Given the description of an element on the screen output the (x, y) to click on. 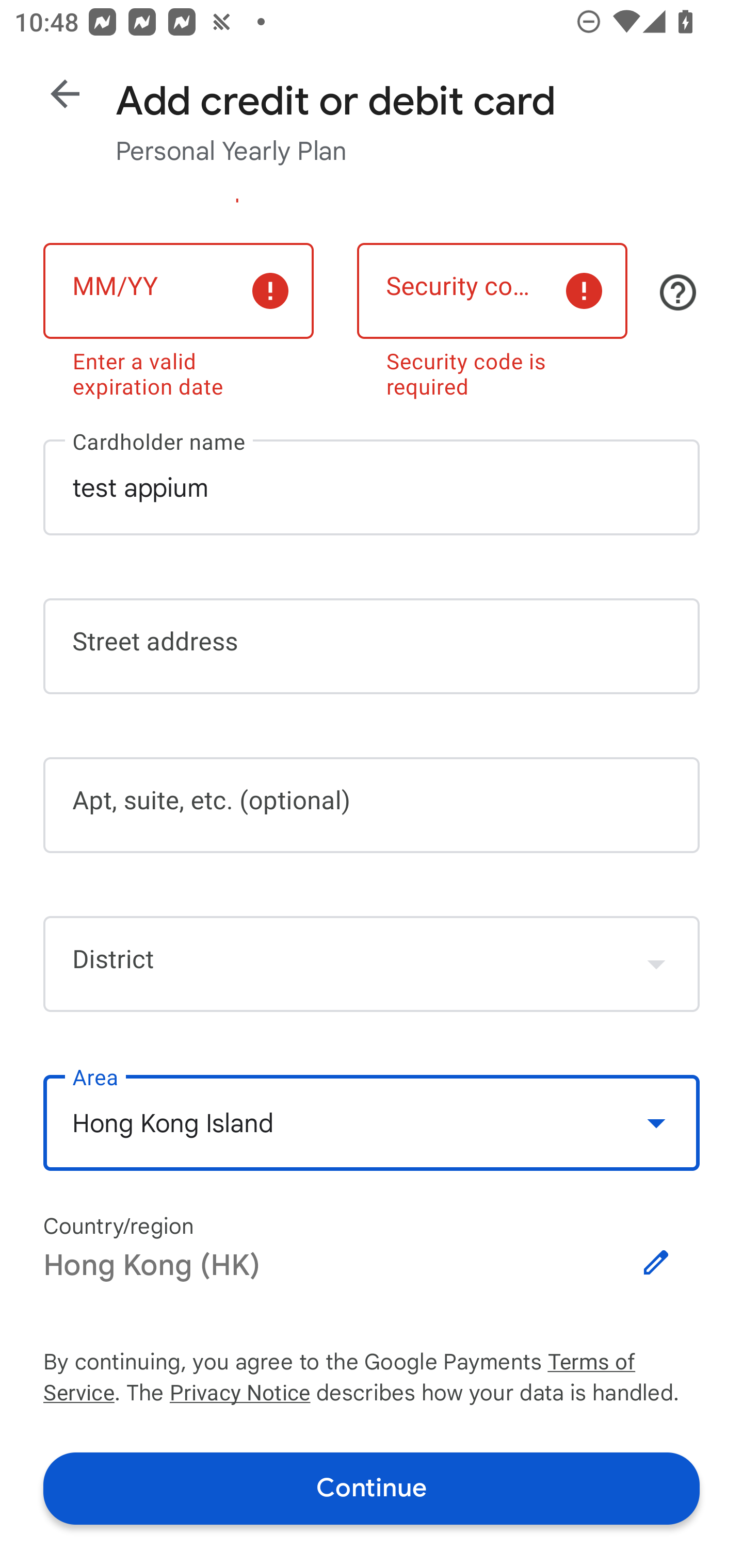
Back (64, 93)
Security code Error Security code is required (492, 317)
Expiration date, 2 digit month, 2 digit year (178, 290)
Security code (492, 290)
Security code help (677, 292)
test appium (371, 486)
Street address (371, 646)
Apt, suite, etc. (optional) (371, 804)
District (371, 963)
Show dropdown menu (655, 963)
Hong Kong Island (371, 1123)
Show dropdown menu (655, 1122)
country edit button (655, 1262)
Terms of Service (623, 1362)
Privacy Notice (239, 1394)
Continue (371, 1487)
